Given the description of an element on the screen output the (x, y) to click on. 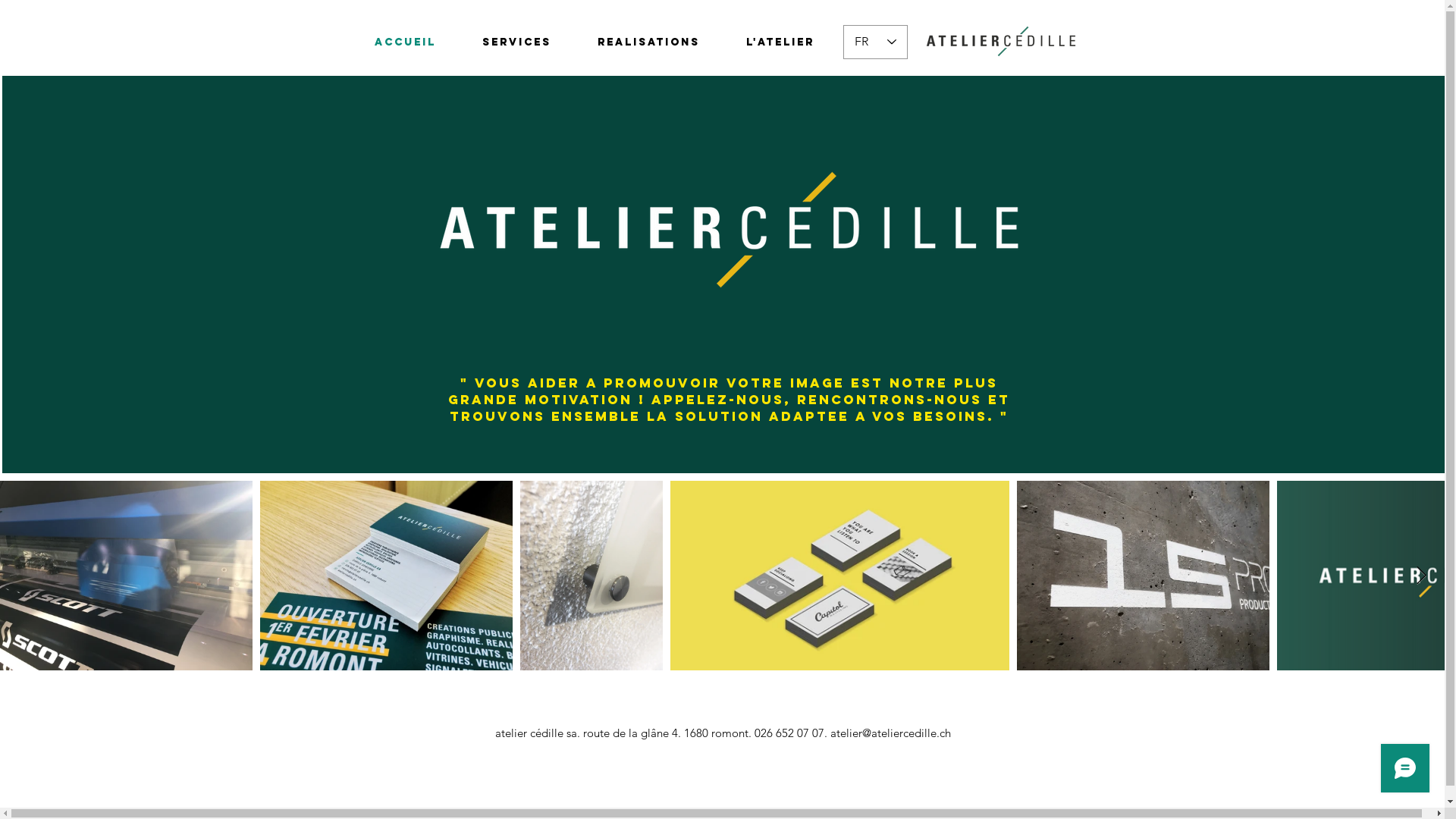
SERVICES Element type: text (516, 42)
REALISATIONS Element type: text (648, 42)
L'ATELIER Element type: text (780, 42)
ACCUEIL Element type: text (404, 42)
Wix Chat Element type: hover (1408, 771)
atelier@ateliercedille.ch Element type: text (890, 732)
